Given the description of an element on the screen output the (x, y) to click on. 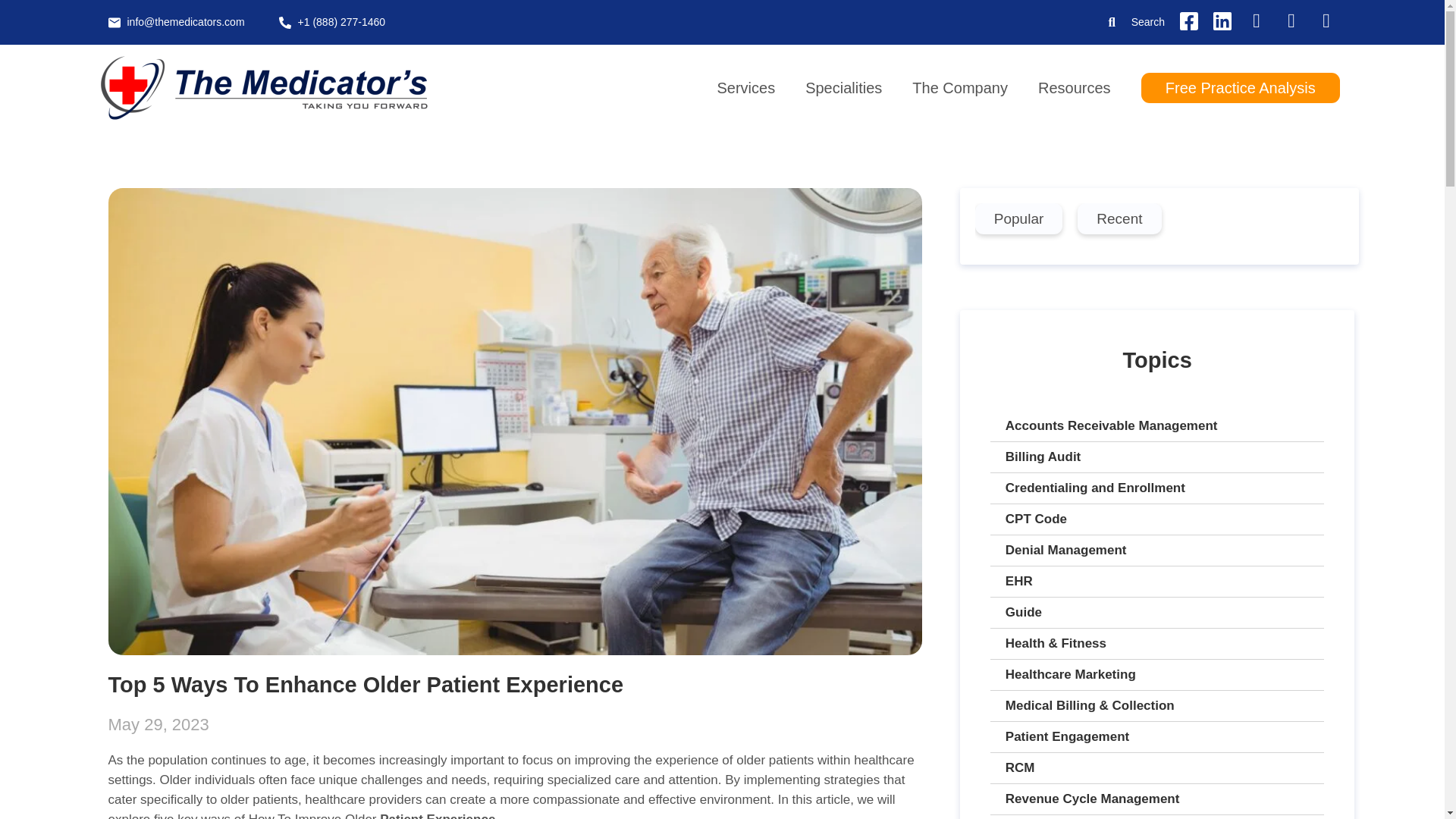
The Company (959, 87)
Resources (1074, 87)
Services (745, 87)
Free Practice Analysis (1240, 87)
Specialities (843, 87)
